Given the description of an element on the screen output the (x, y) to click on. 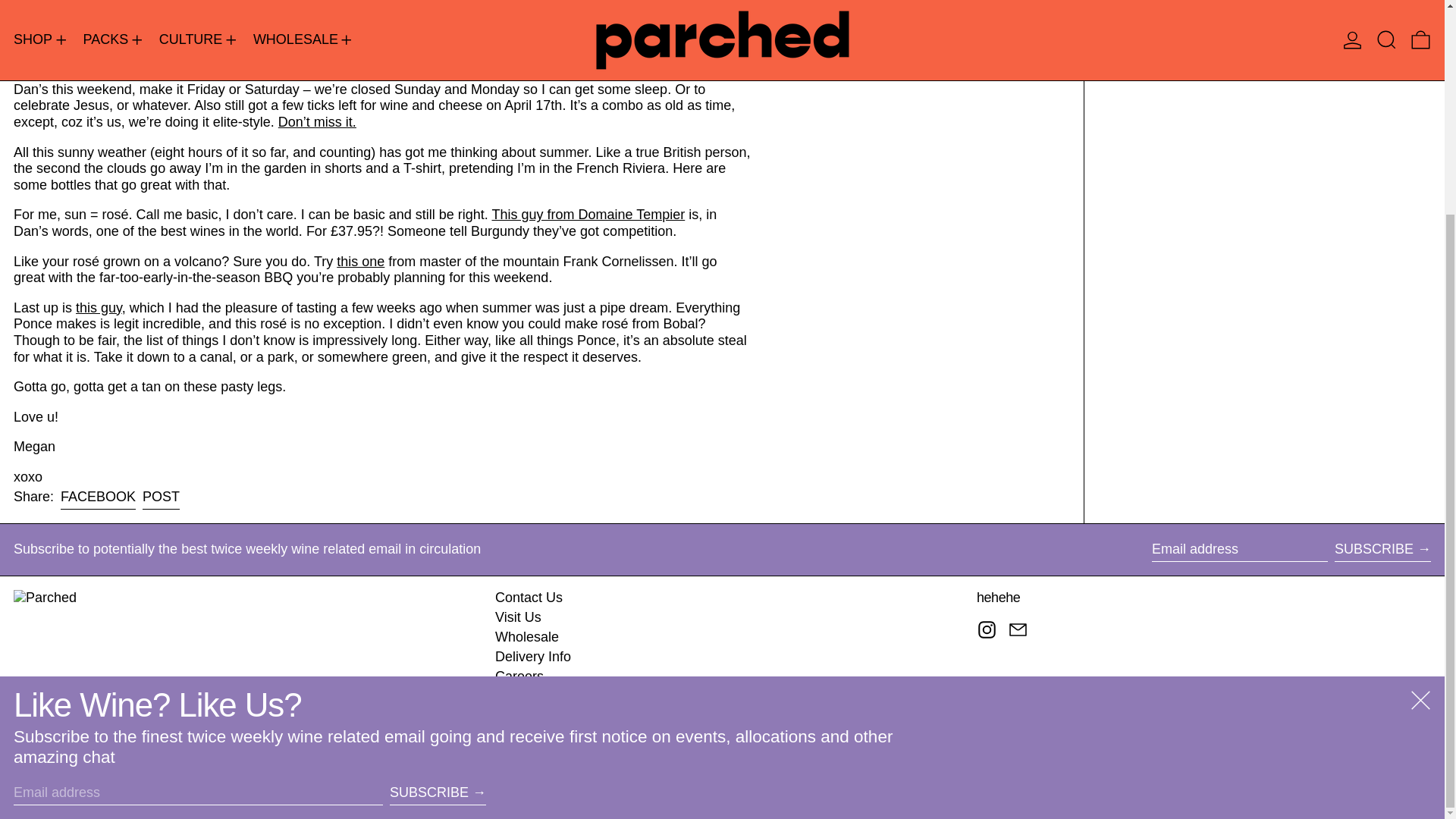
this guy (98, 307)
This guy from Domaine Tempier (588, 214)
this one (360, 261)
